Given the description of an element on the screen output the (x, y) to click on. 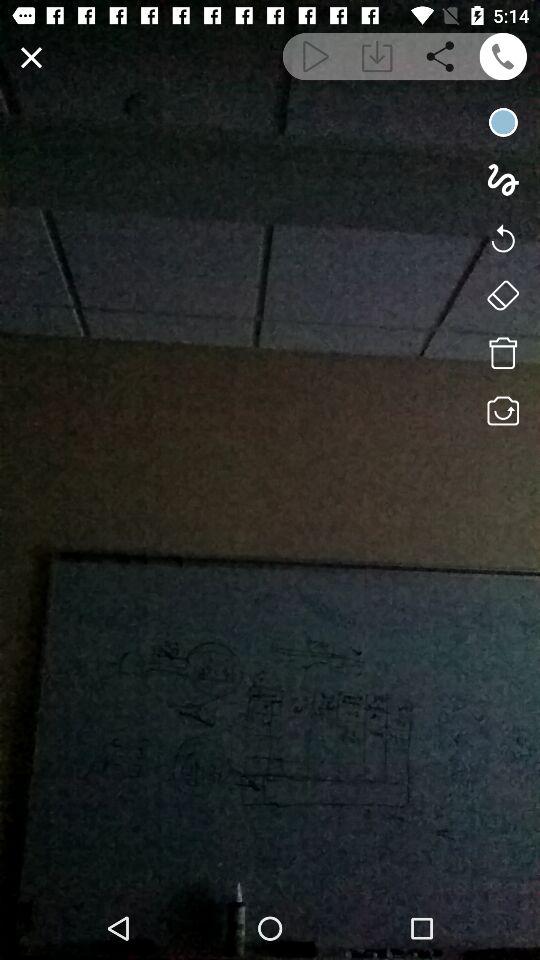
share menu (439, 56)
